Given the description of an element on the screen output the (x, y) to click on. 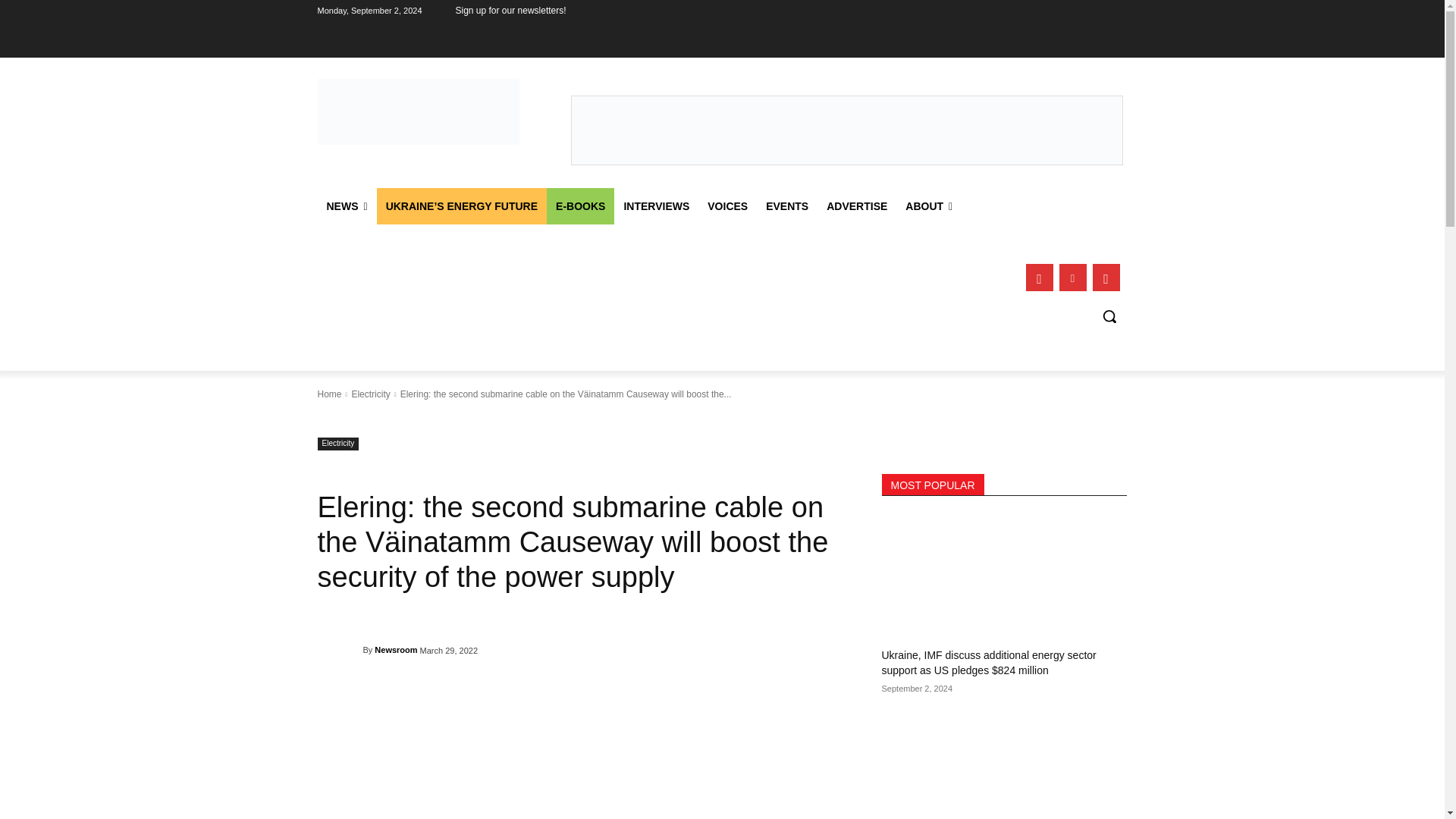
Twitter (1105, 277)
View all posts in Electricity (370, 394)
NEWS (346, 206)
CEENERGYNEWS logo (418, 111)
Sign up for our newsletters! (510, 10)
Linkedin (1072, 277)
Facebook (1038, 277)
